Given the description of an element on the screen output the (x, y) to click on. 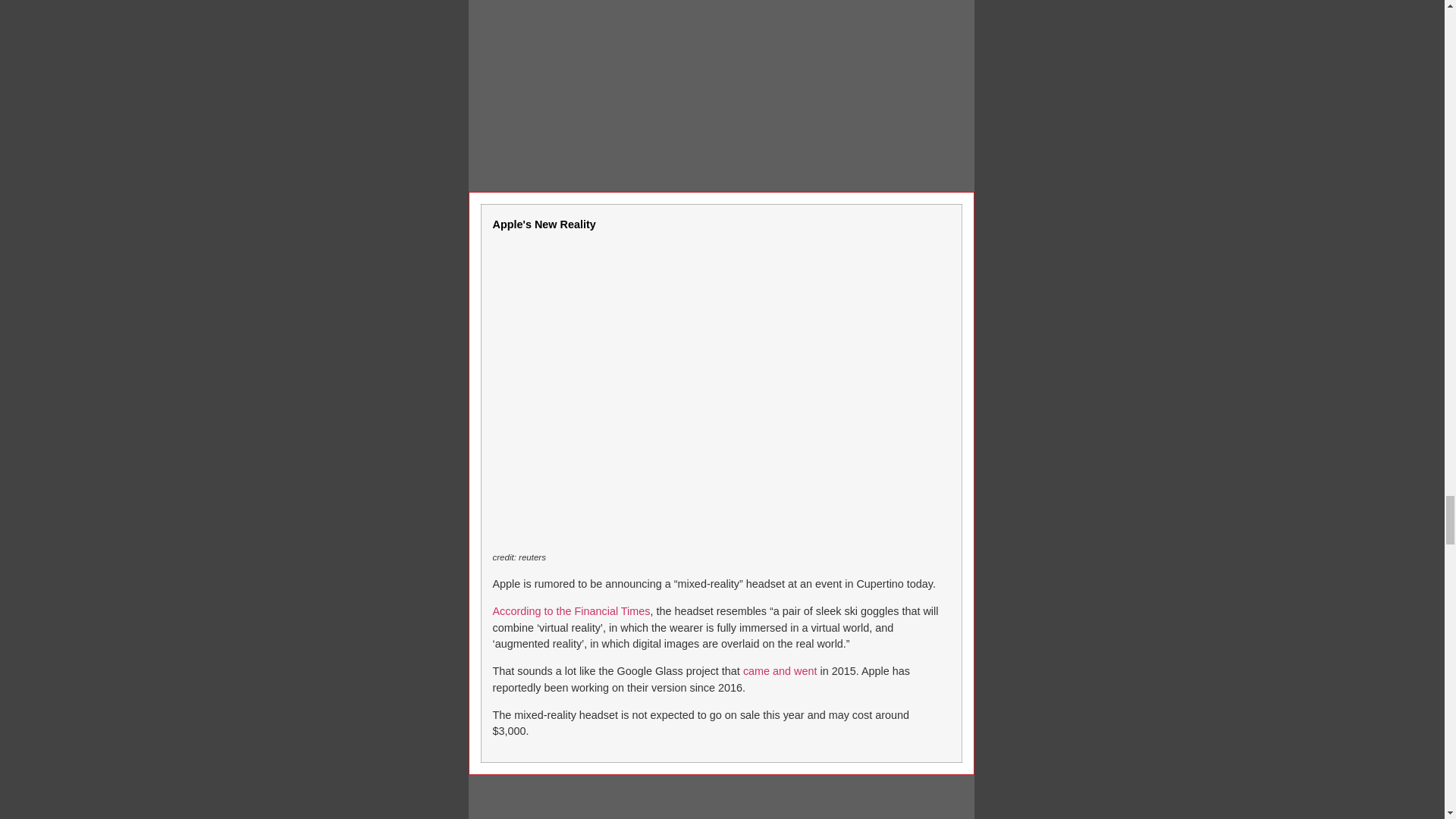
redit: (506, 556)
came and went (779, 671)
According to the Financial Times (571, 611)
